Given the description of an element on the screen output the (x, y) to click on. 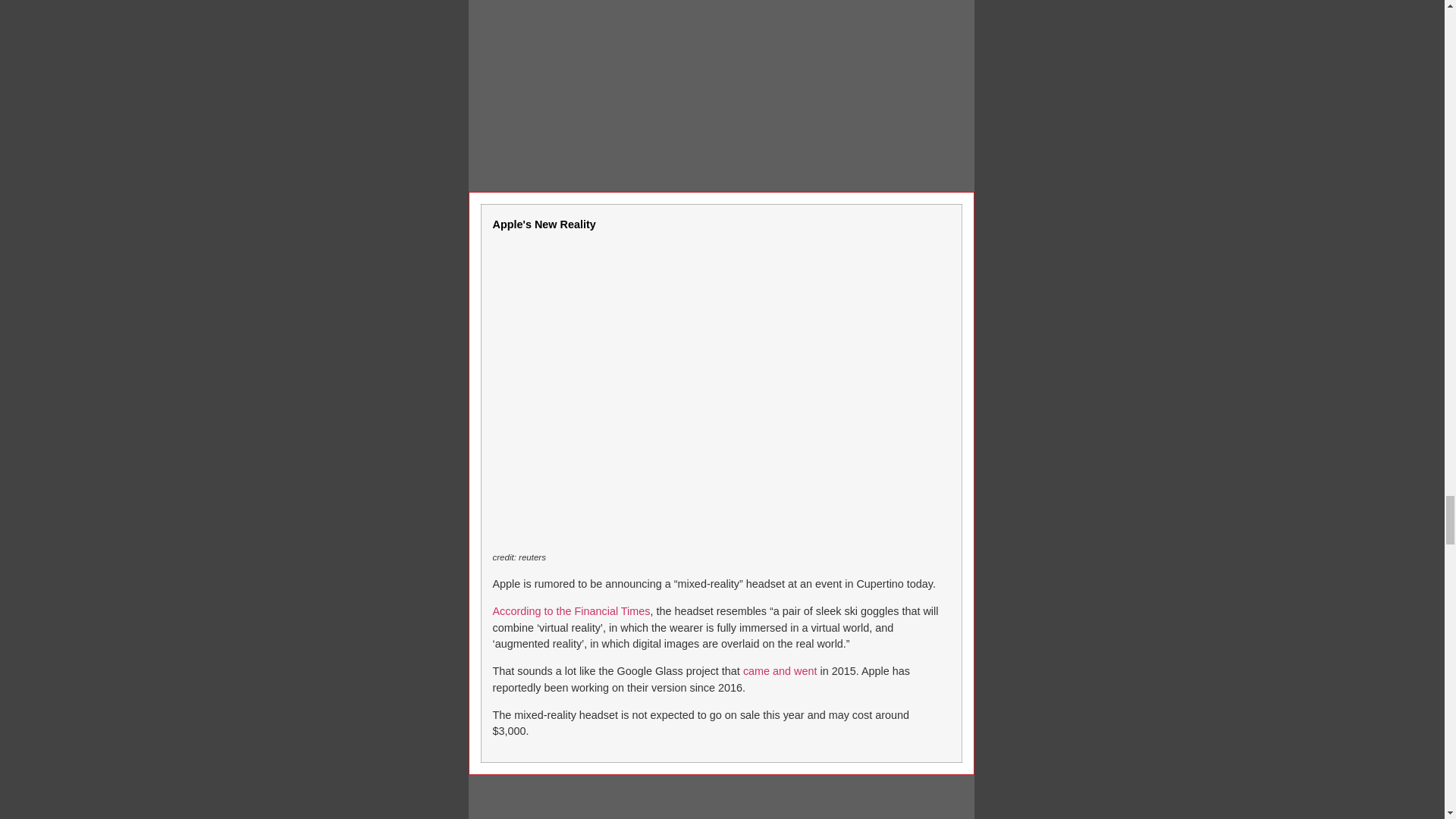
redit: (506, 556)
came and went (779, 671)
According to the Financial Times (571, 611)
